Given the description of an element on the screen output the (x, y) to click on. 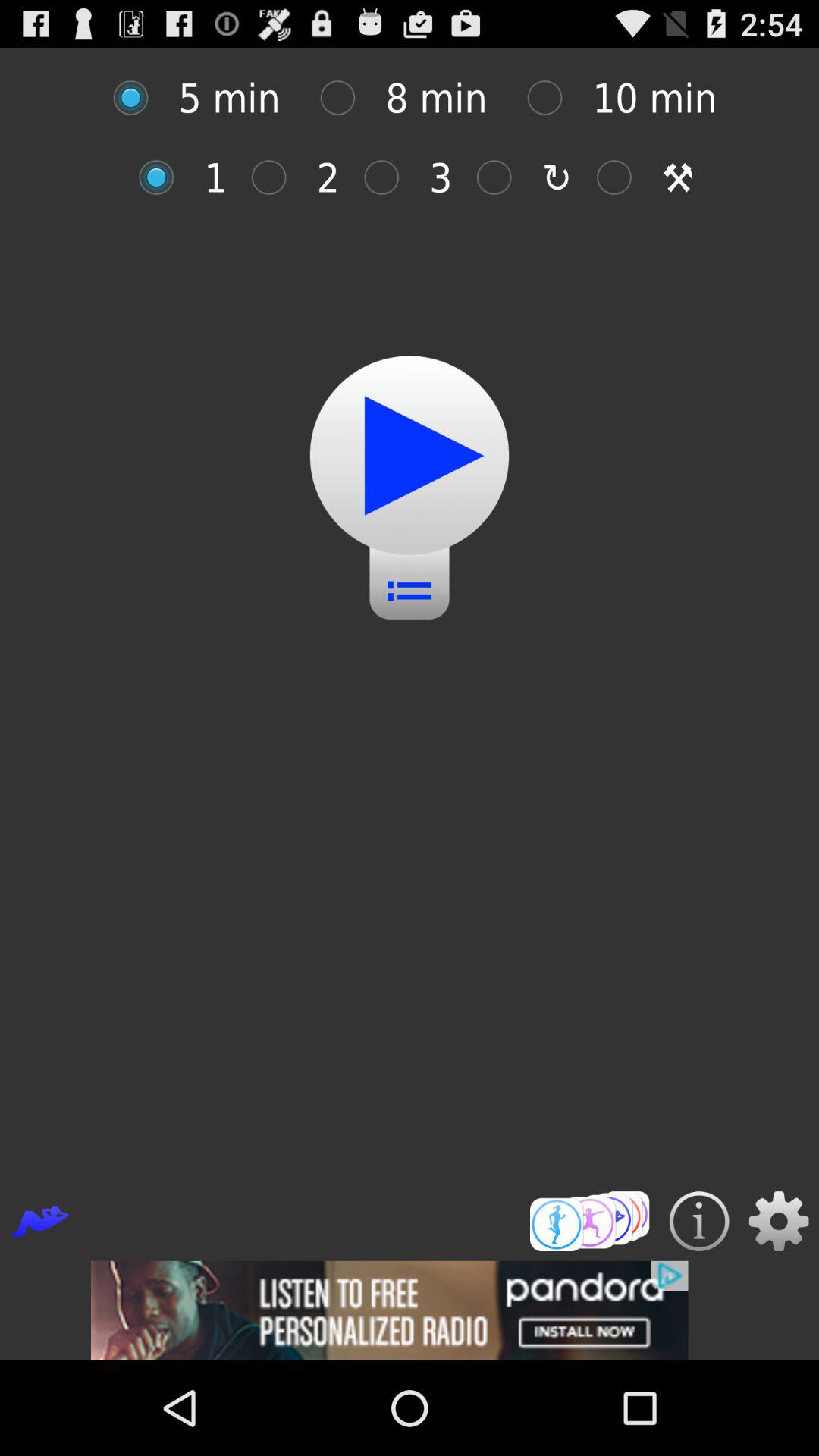
2 minutes (276, 177)
